Given the description of an element on the screen output the (x, y) to click on. 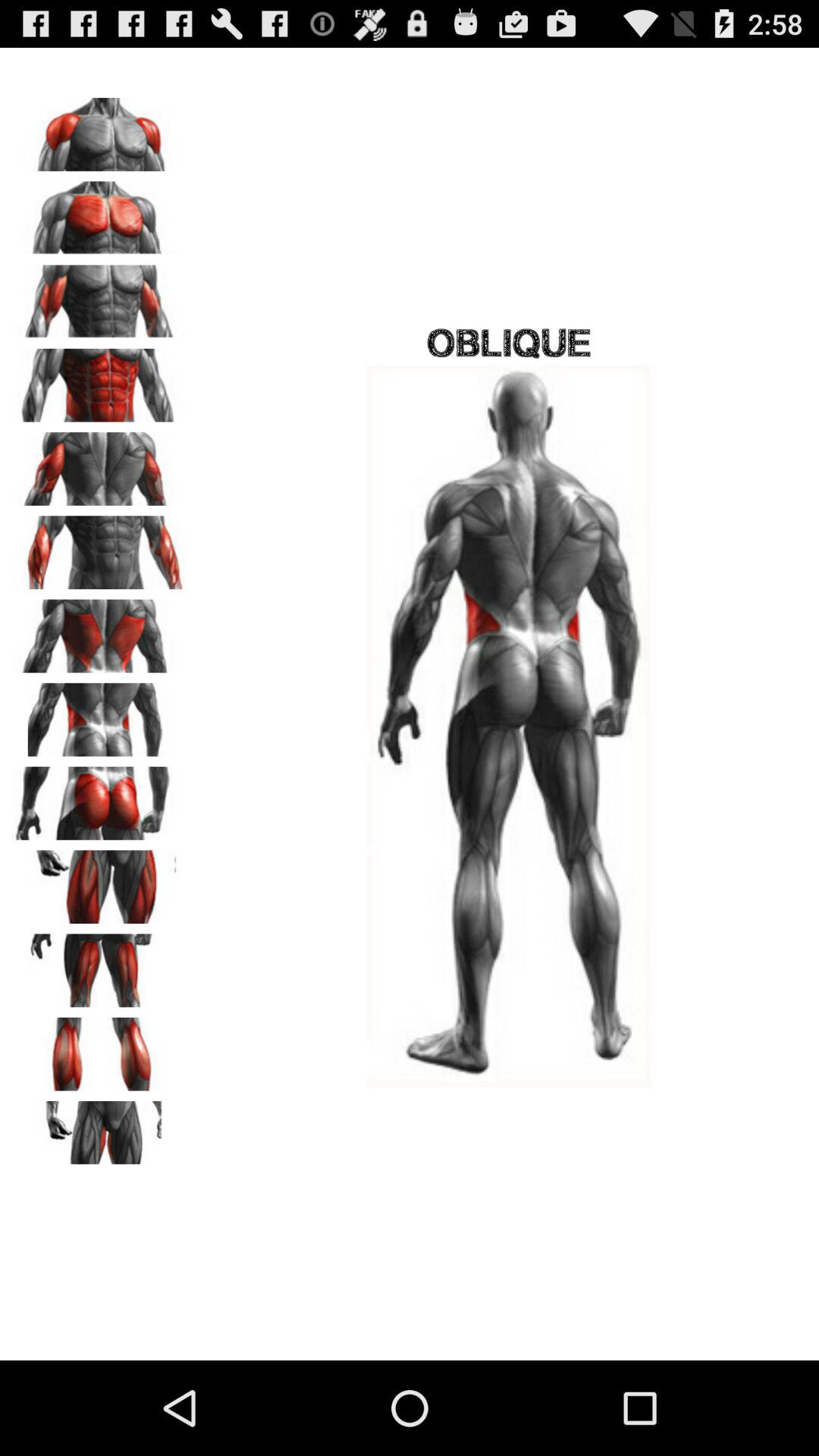
change to area of the body (99, 965)
